Given the description of an element on the screen output the (x, y) to click on. 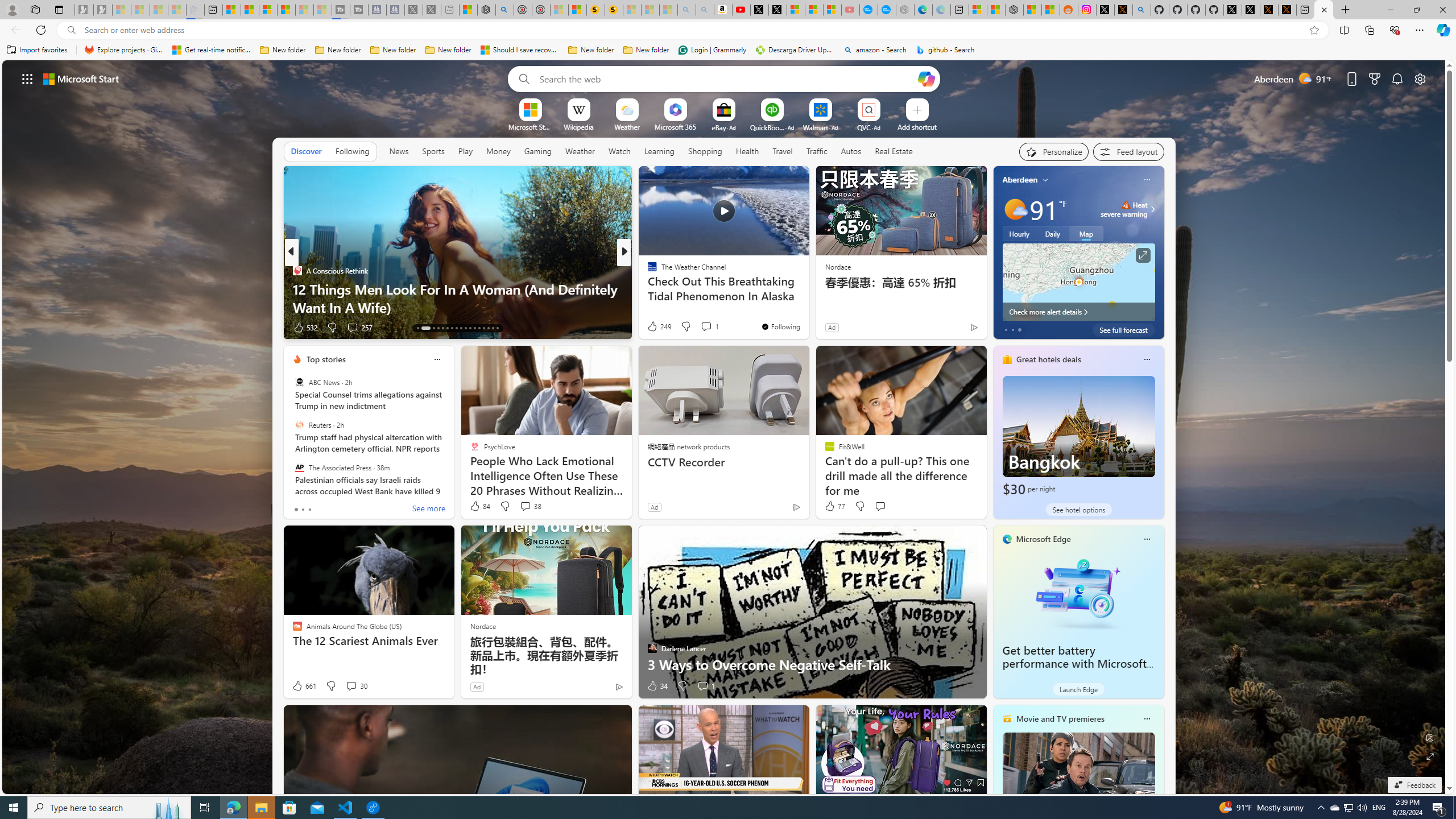
34 Like (657, 685)
The Independent (647, 270)
Nordace - Duffels (1013, 9)
The most popular Google 'how to' searches (887, 9)
Get better battery performance with Microsoft Edge (1077, 592)
Should I save recovered Word documents? - Microsoft Support (519, 49)
Edit Background (1430, 737)
A Conscious Rethink (296, 270)
Heat - Severe Heat severe warning (1123, 208)
